Given the description of an element on the screen output the (x, y) to click on. 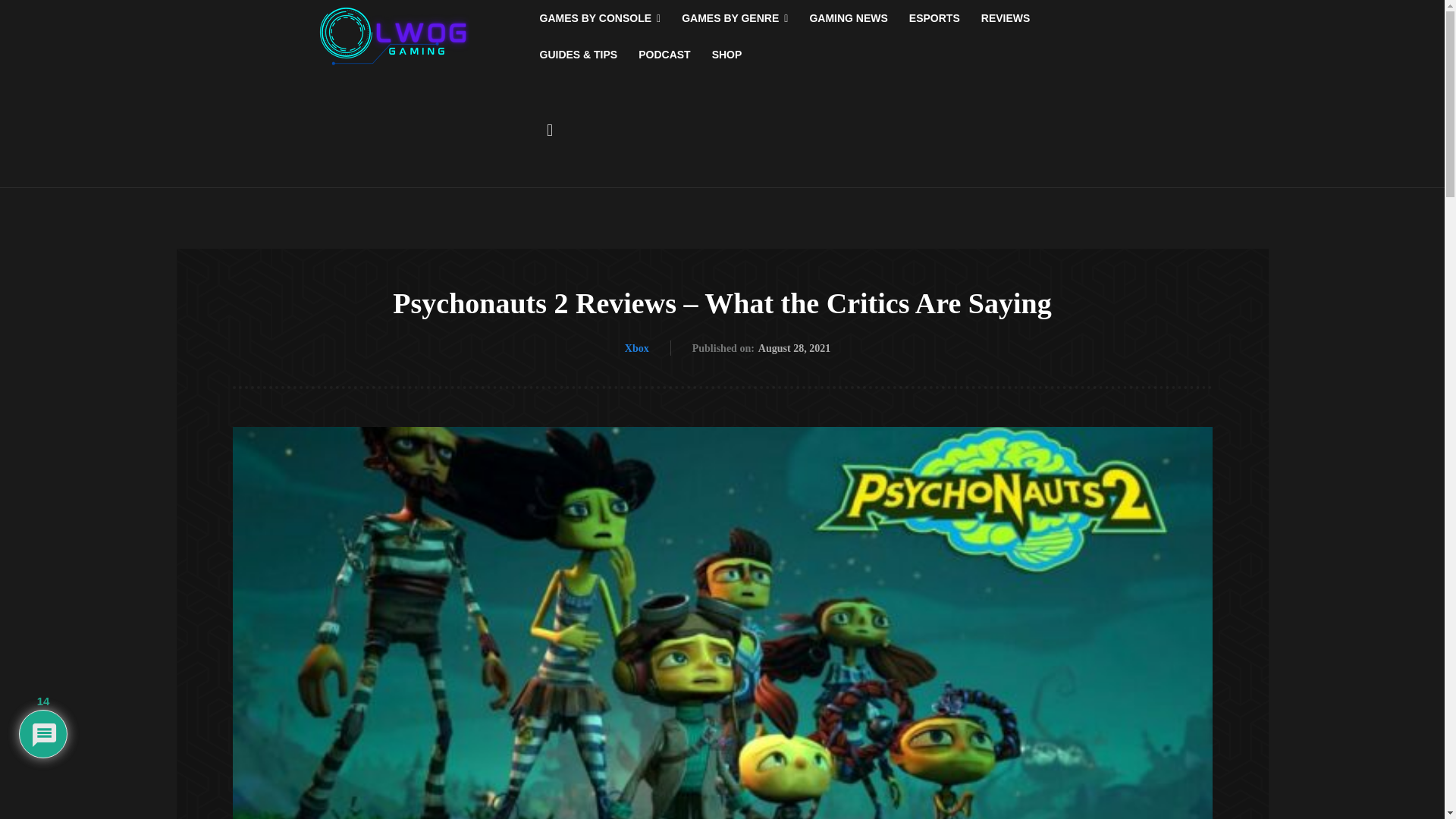
GAMING NEWS (847, 18)
Xbox (636, 348)
GAMES BY GENRE (734, 18)
GAMES BY CONSOLE (600, 18)
REVIEWS (1006, 18)
SHOP (726, 54)
PODCAST (663, 54)
ESPORTS (934, 18)
